Given the description of an element on the screen output the (x, y) to click on. 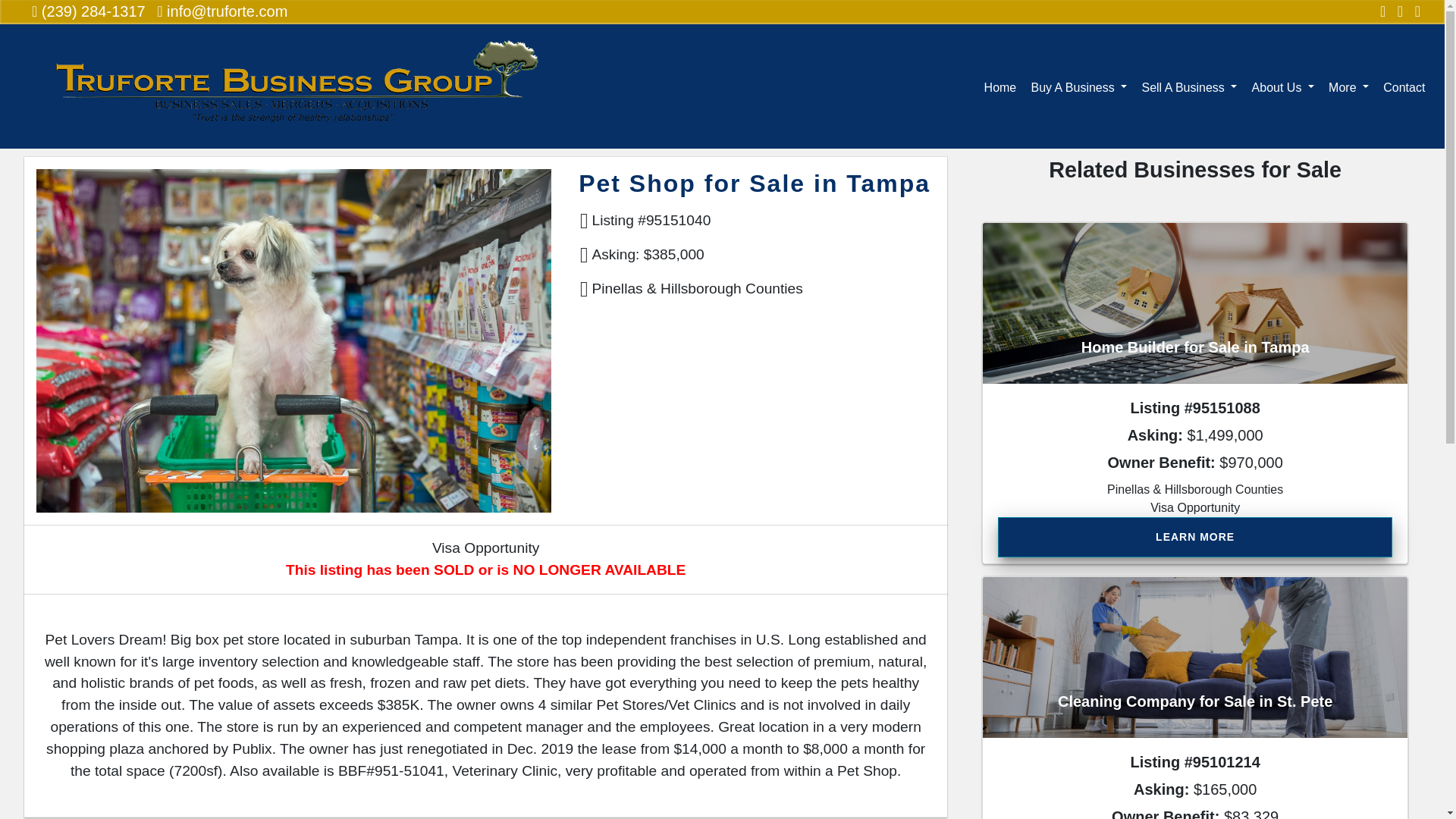
Buy A Business (1078, 86)
Contact (1403, 86)
Sell A Business (1189, 86)
About Us (1283, 86)
Home (56, 133)
More (1347, 86)
English (1345, 131)
Home (999, 86)
